Given the description of an element on the screen output the (x, y) to click on. 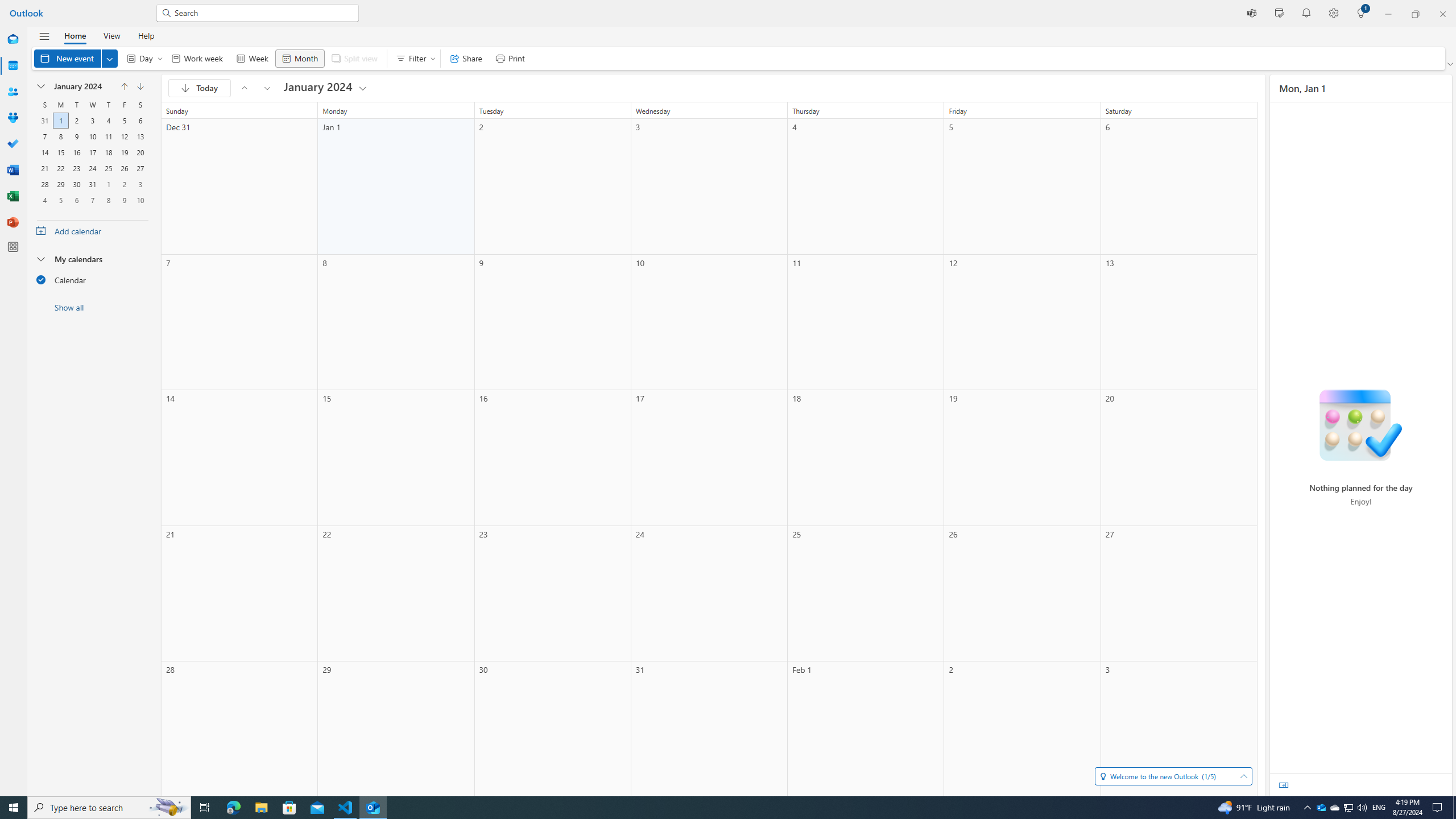
3, January, 2024 (92, 120)
Monday (60, 104)
New event (75, 58)
Day (141, 58)
23, January, 2024 (75, 168)
Running applications (706, 807)
More apps (12, 246)
Search (262, 12)
31, January, 2024 (92, 183)
10, February, 2024 (140, 200)
30, January, 2024 (76, 184)
22, January, 2024 (59, 168)
16, January, 2024 (76, 152)
31, December, 2023 (44, 120)
